Given the description of an element on the screen output the (x, y) to click on. 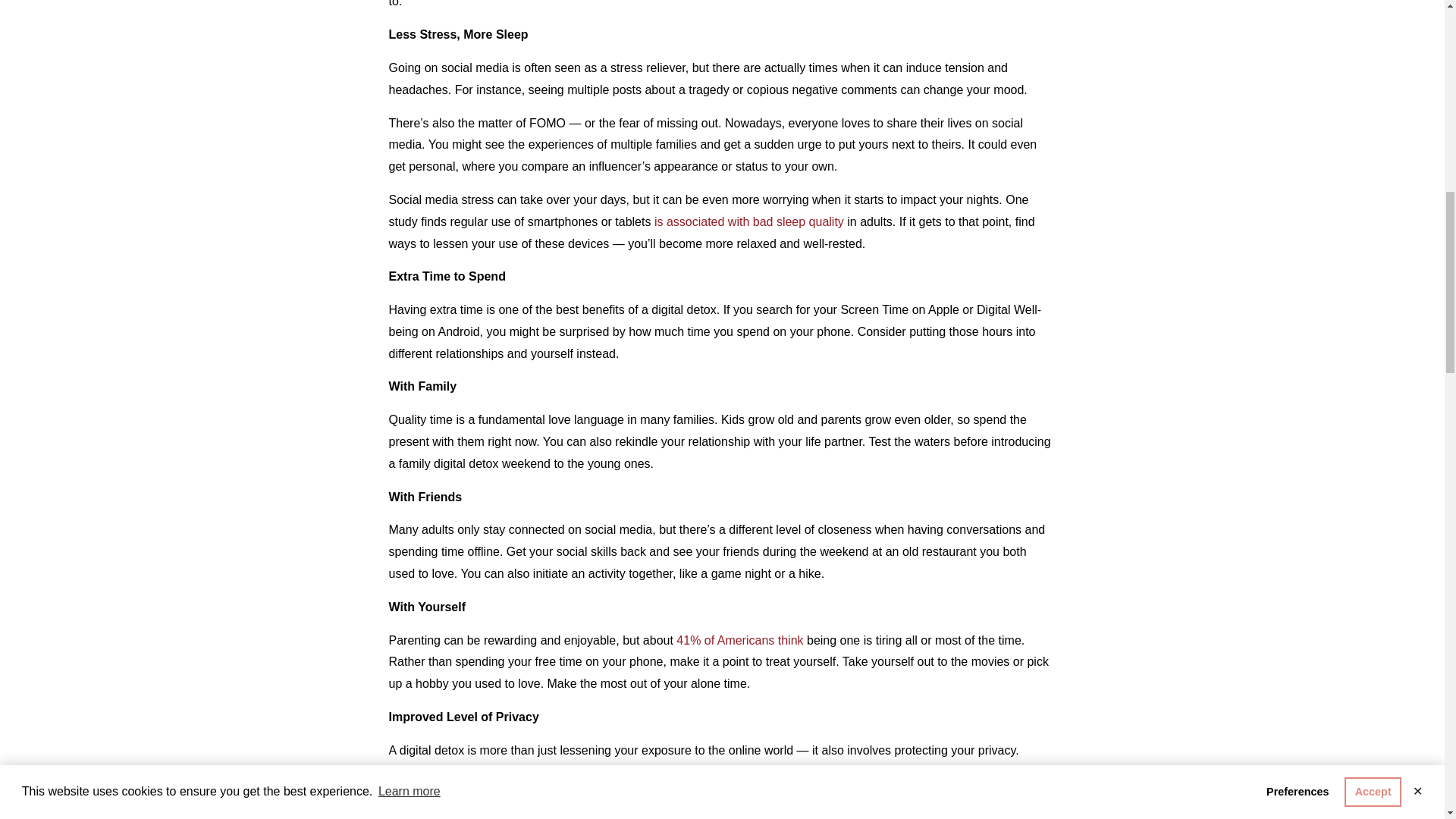
is associated with bad sleep quality (748, 221)
